Given the description of an element on the screen output the (x, y) to click on. 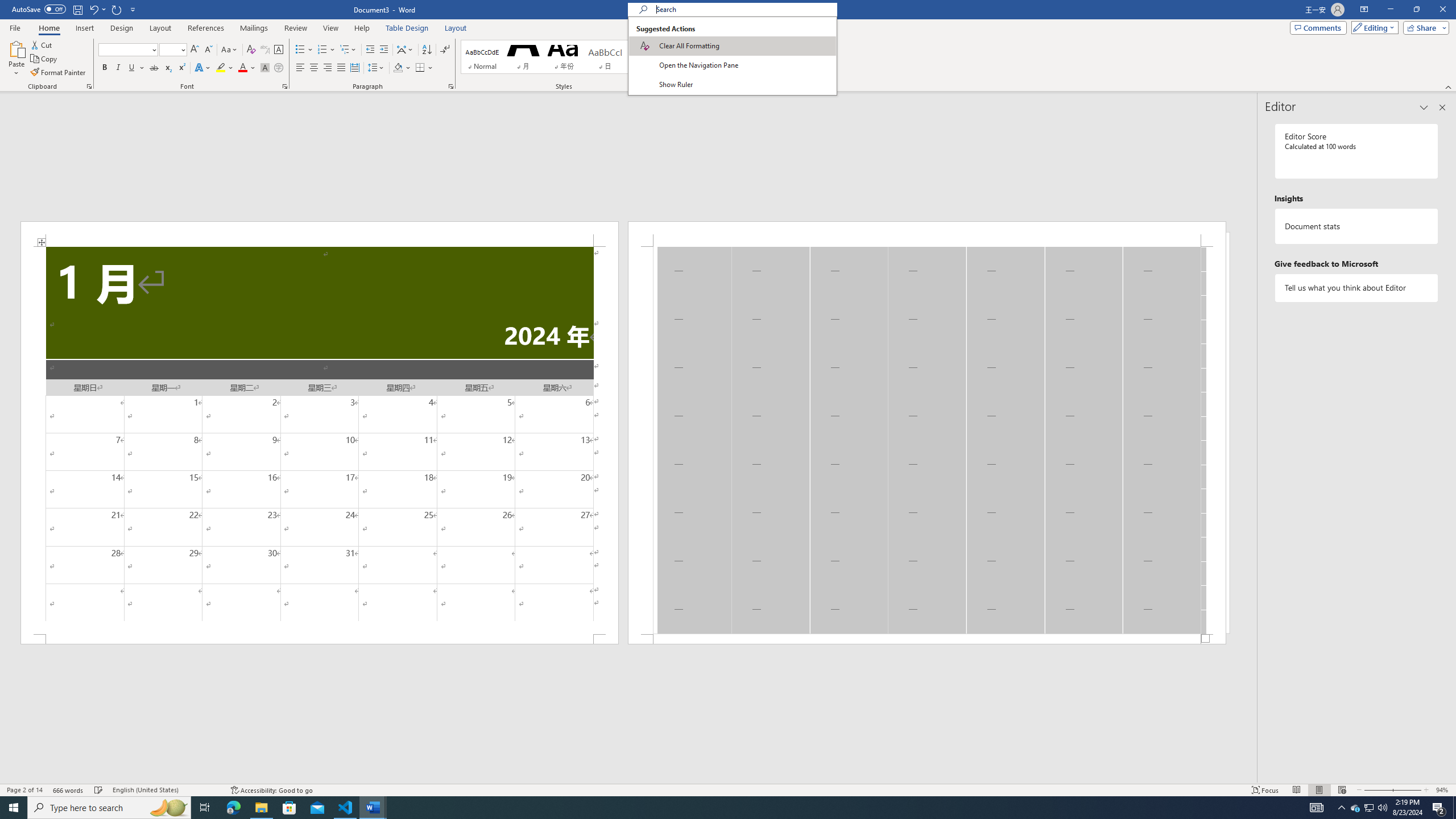
Character Shading (264, 67)
Copy (45, 58)
Decrease Indent (370, 49)
Help (361, 28)
Class: NetUIScrollBar (628, 778)
Share (1423, 27)
Strikethrough (154, 67)
Microsoft search (742, 9)
Clear Formatting (250, 49)
Font Size (172, 49)
System (6, 6)
Italic (118, 67)
Numbering (322, 49)
